Given the description of an element on the screen output the (x, y) to click on. 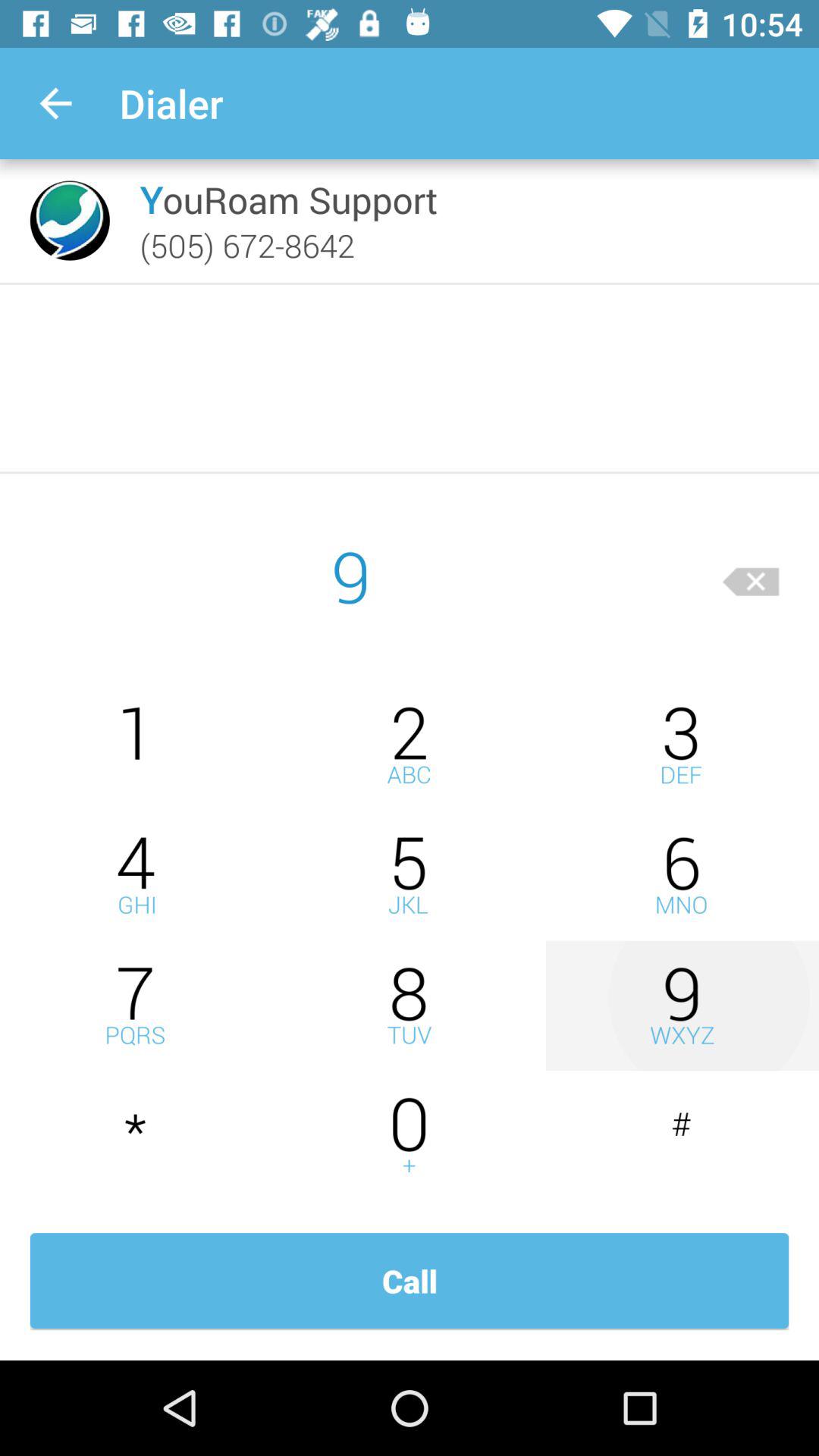
type number five (409, 875)
